Given the description of an element on the screen output the (x, y) to click on. 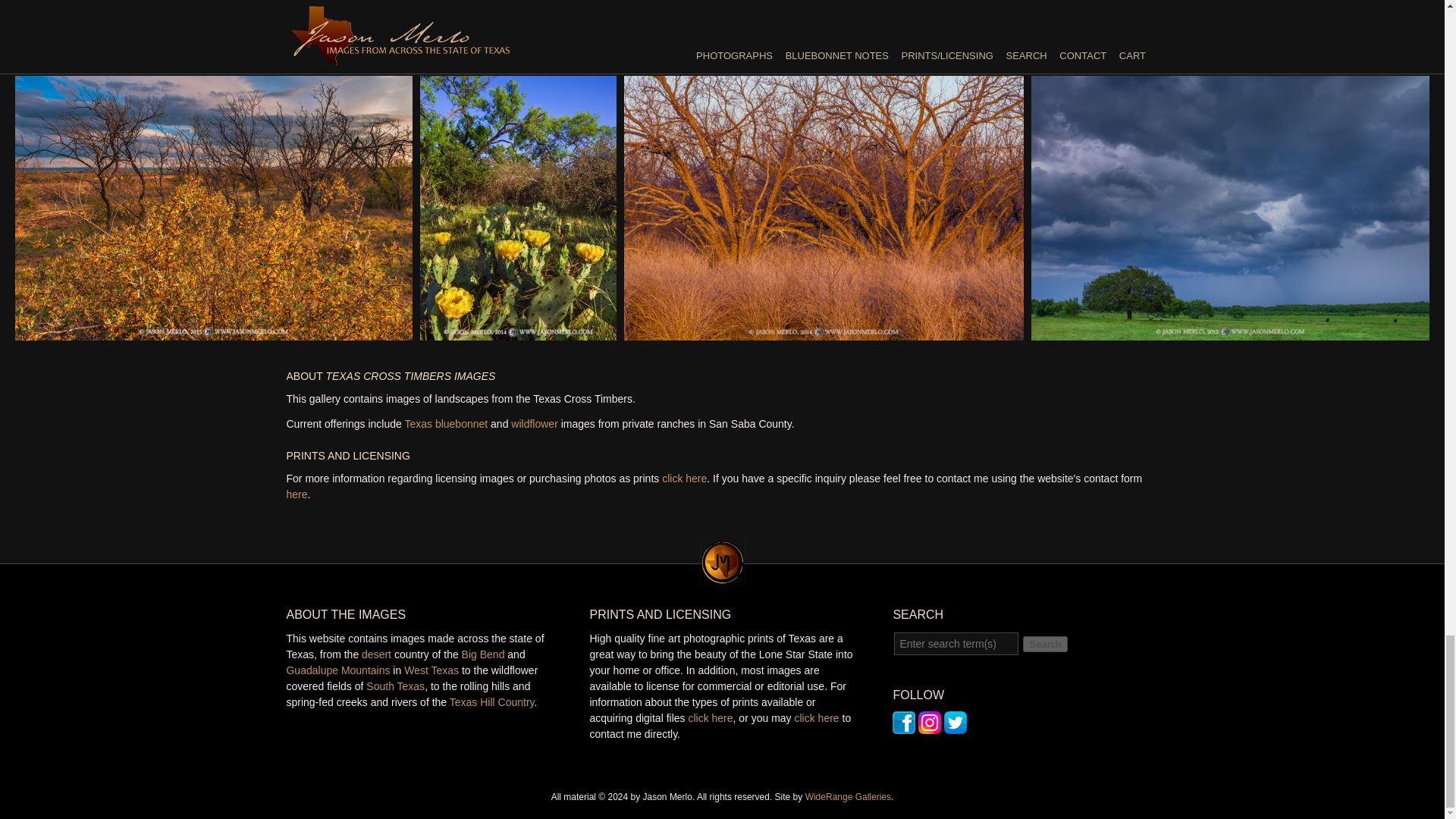
Follow on Instagram (929, 725)
Follow on Twitter (954, 725)
Follow on Facebook (903, 725)
